Given the description of an element on the screen output the (x, y) to click on. 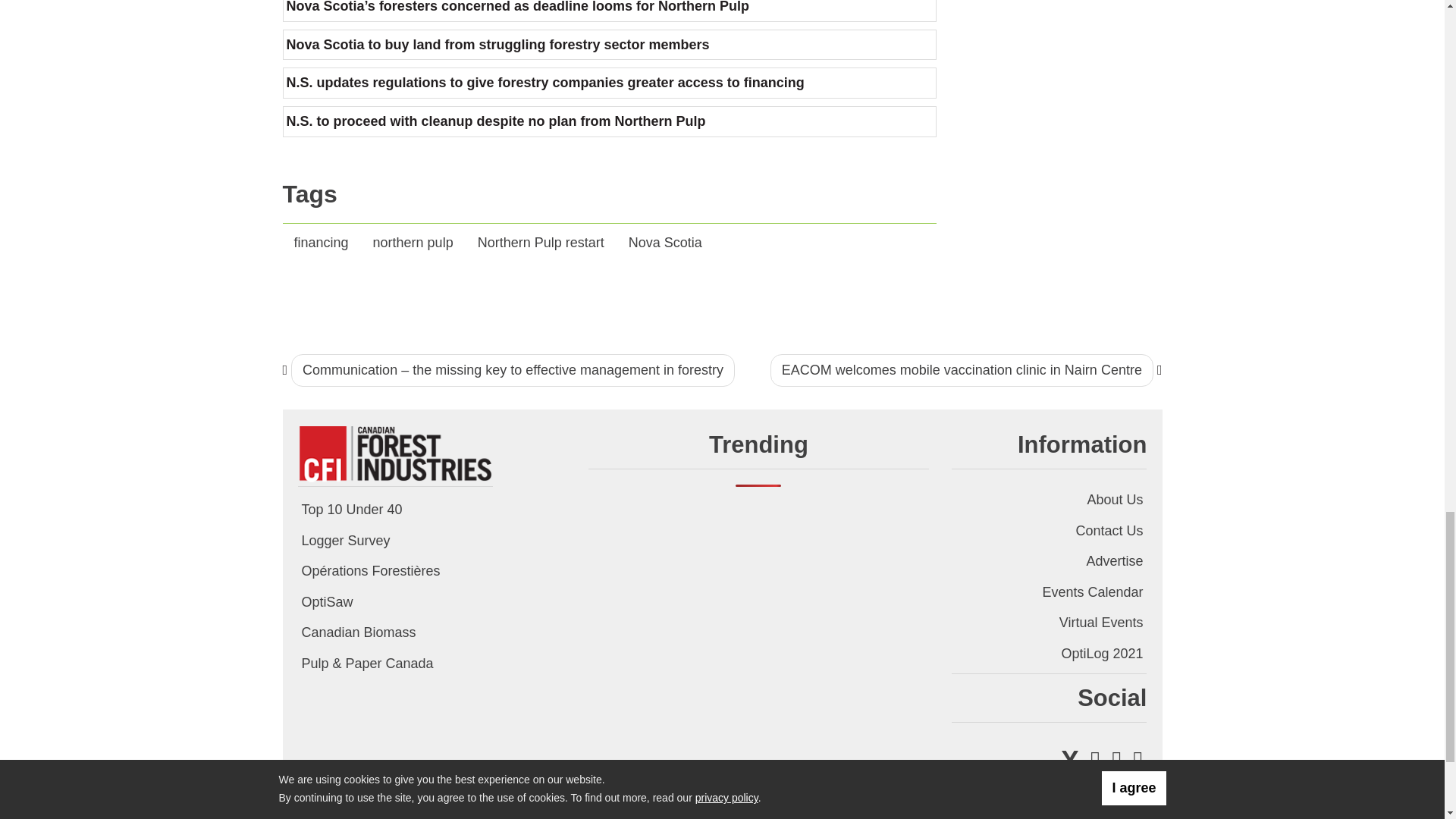
Wood Business (395, 452)
